Given the description of an element on the screen output the (x, y) to click on. 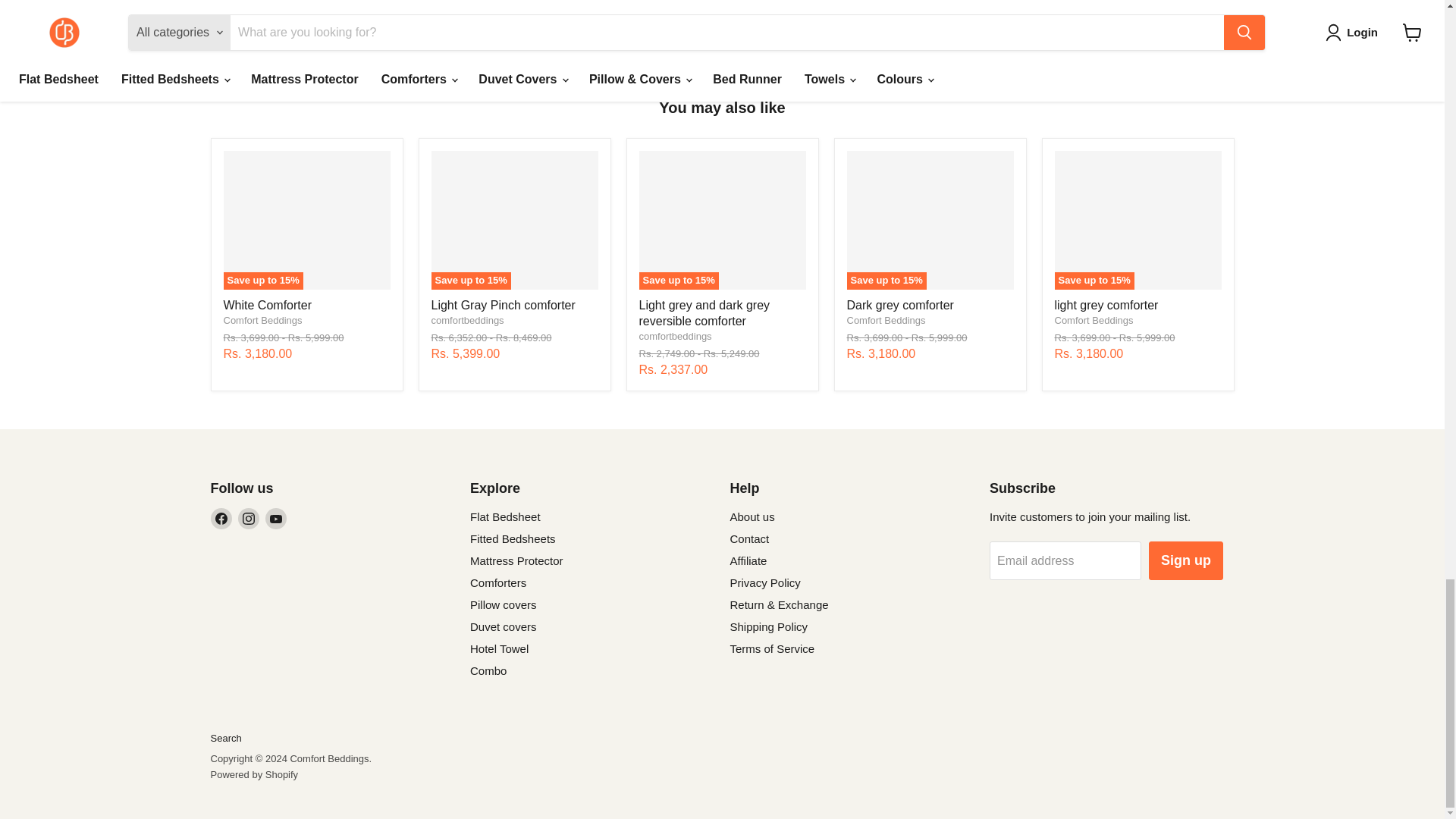
comfortbeddings (466, 319)
comfortbeddings (675, 336)
Facebook (221, 518)
Instagram (248, 518)
YouTube (275, 518)
Comfort Beddings (1093, 319)
Comfort Beddings (884, 319)
Comfort Beddings (261, 319)
